Given the description of an element on the screen output the (x, y) to click on. 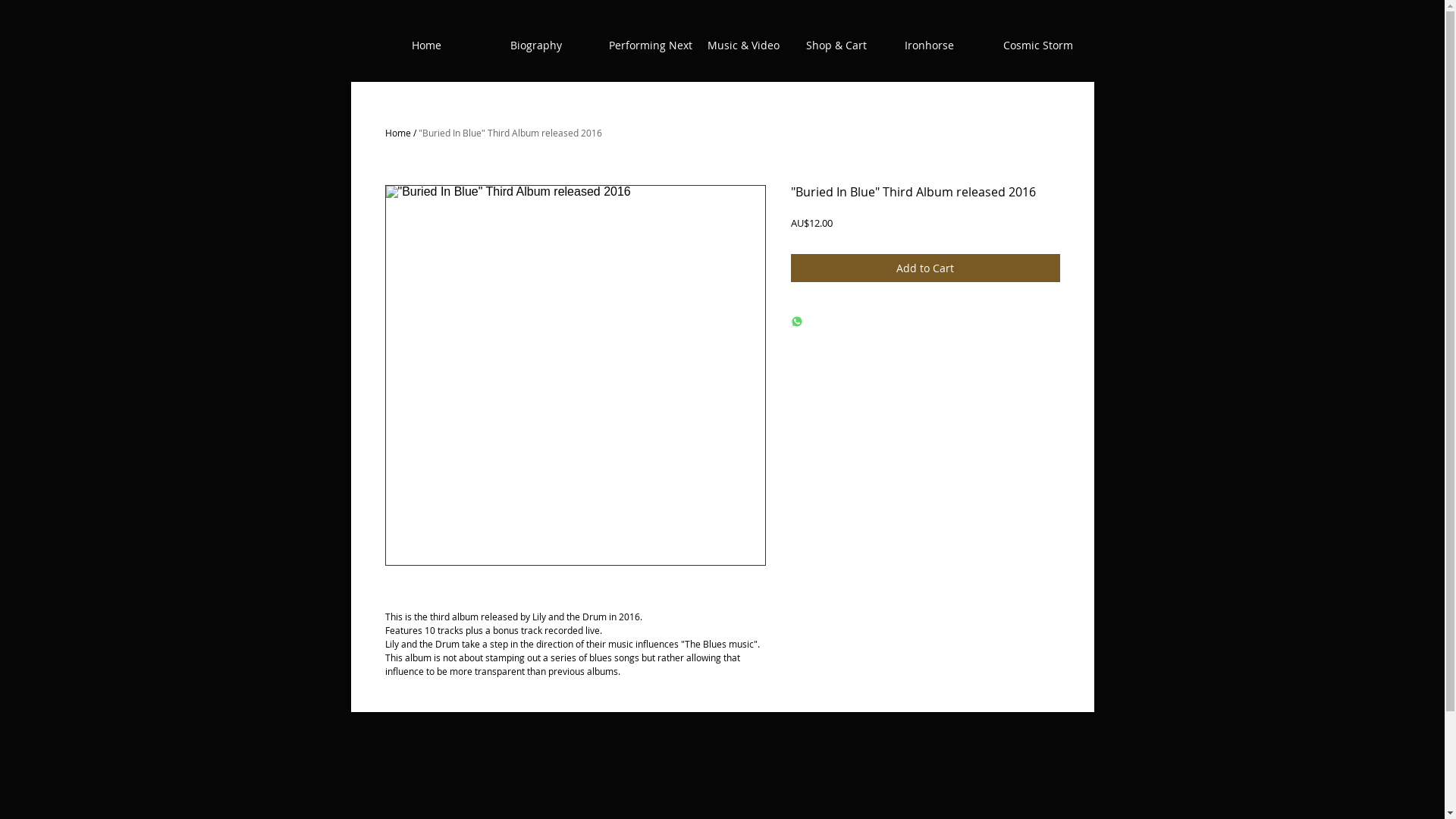
Home Element type: text (398, 132)
Performing Next Element type: text (649, 45)
Add to Cart Element type: text (924, 268)
Ironhorse Element type: text (945, 45)
Biography Element type: text (551, 45)
Cosmic Storm Element type: text (1043, 45)
Shop & Cart Element type: text (846, 45)
Music & Video Element type: text (748, 45)
Home Element type: text (452, 45)
